Given the description of an element on the screen output the (x, y) to click on. 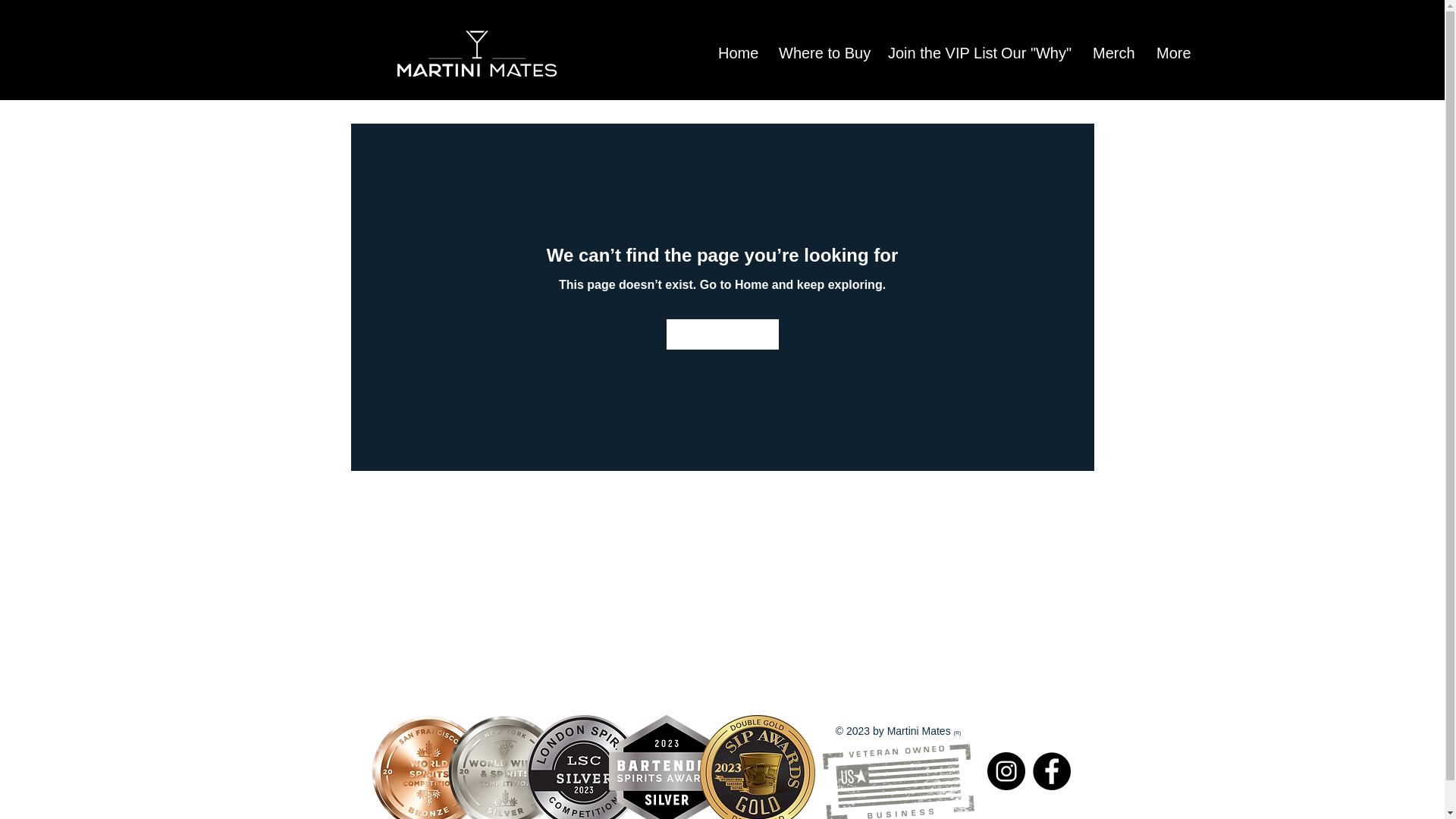
Where to Buy (821, 53)
Go to Home (721, 334)
Double Gold Medal (755, 766)
Home (736, 53)
Join the VIP List (933, 53)
Silver Medal.png (583, 766)
Our "Why" (1035, 53)
Merch (1112, 53)
